Given the description of an element on the screen output the (x, y) to click on. 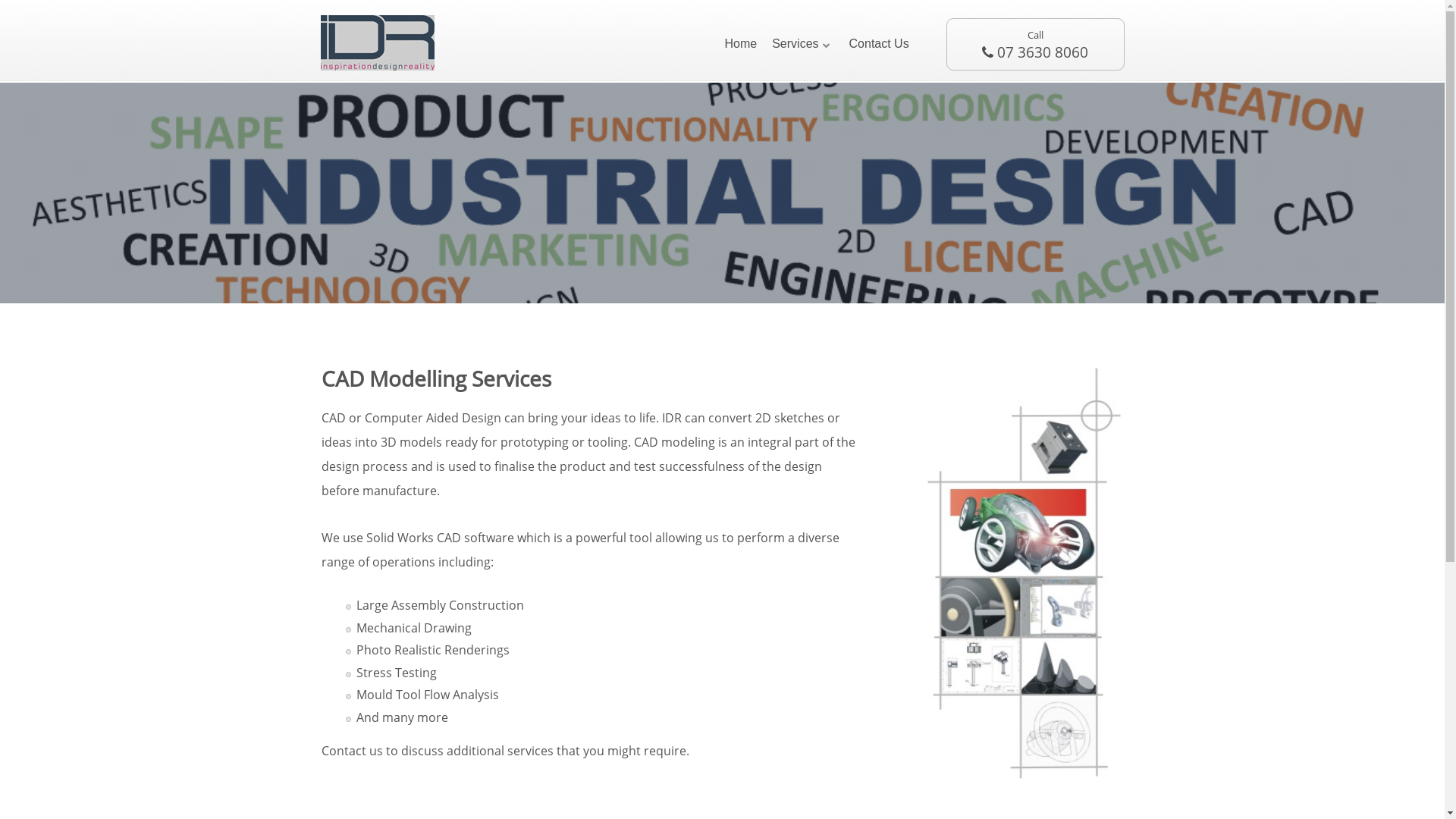
Home Element type: text (740, 43)
Services Element type: text (802, 43)
Contact Us Element type: text (879, 43)
Call
07 3630 8060 Element type: text (1035, 44)
cad Element type: hover (1011, 572)
